Given the description of an element on the screen output the (x, y) to click on. 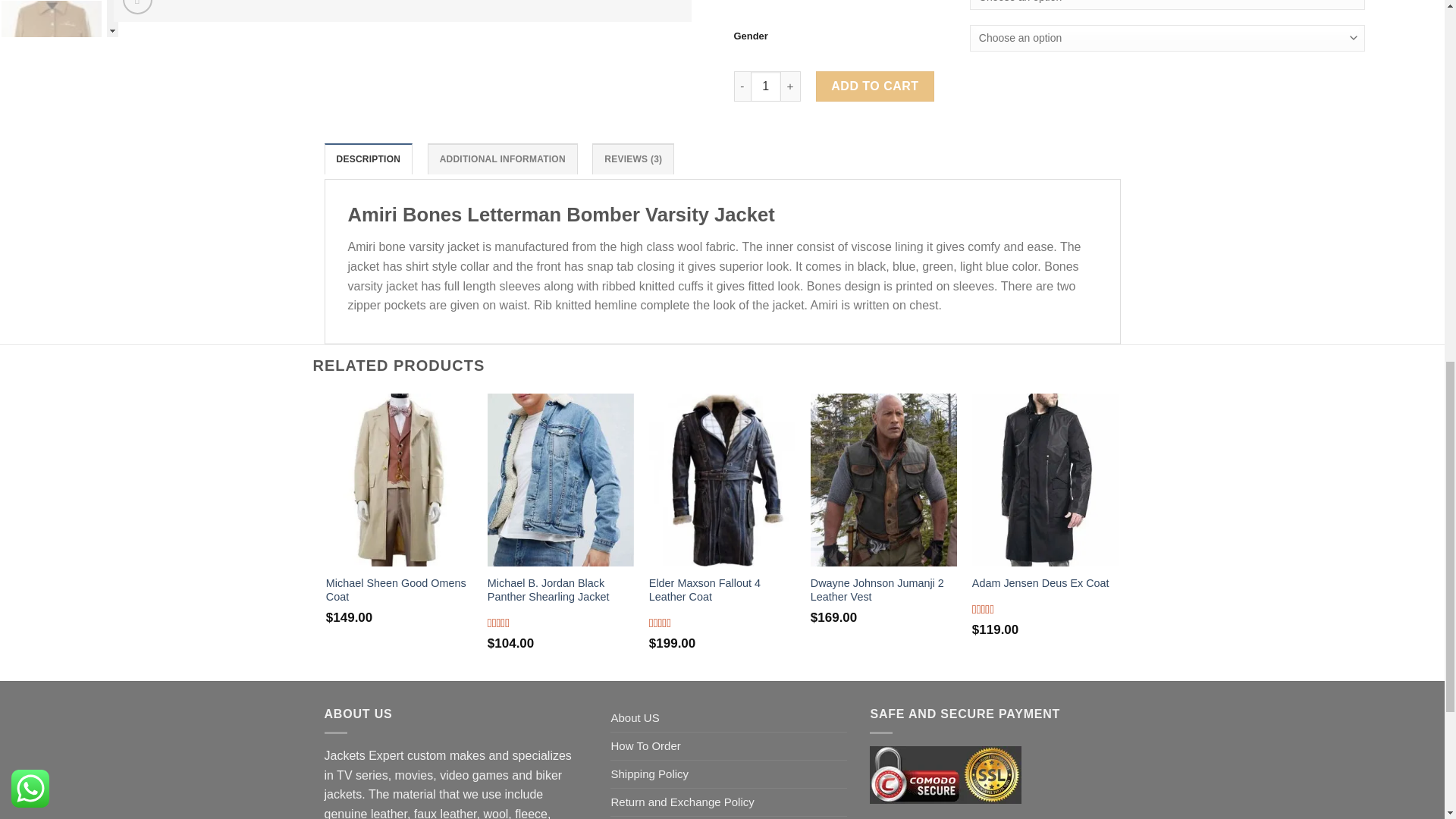
1 (765, 86)
bones-black-varsity-jacket (402, 11)
